Given the description of an element on the screen output the (x, y) to click on. 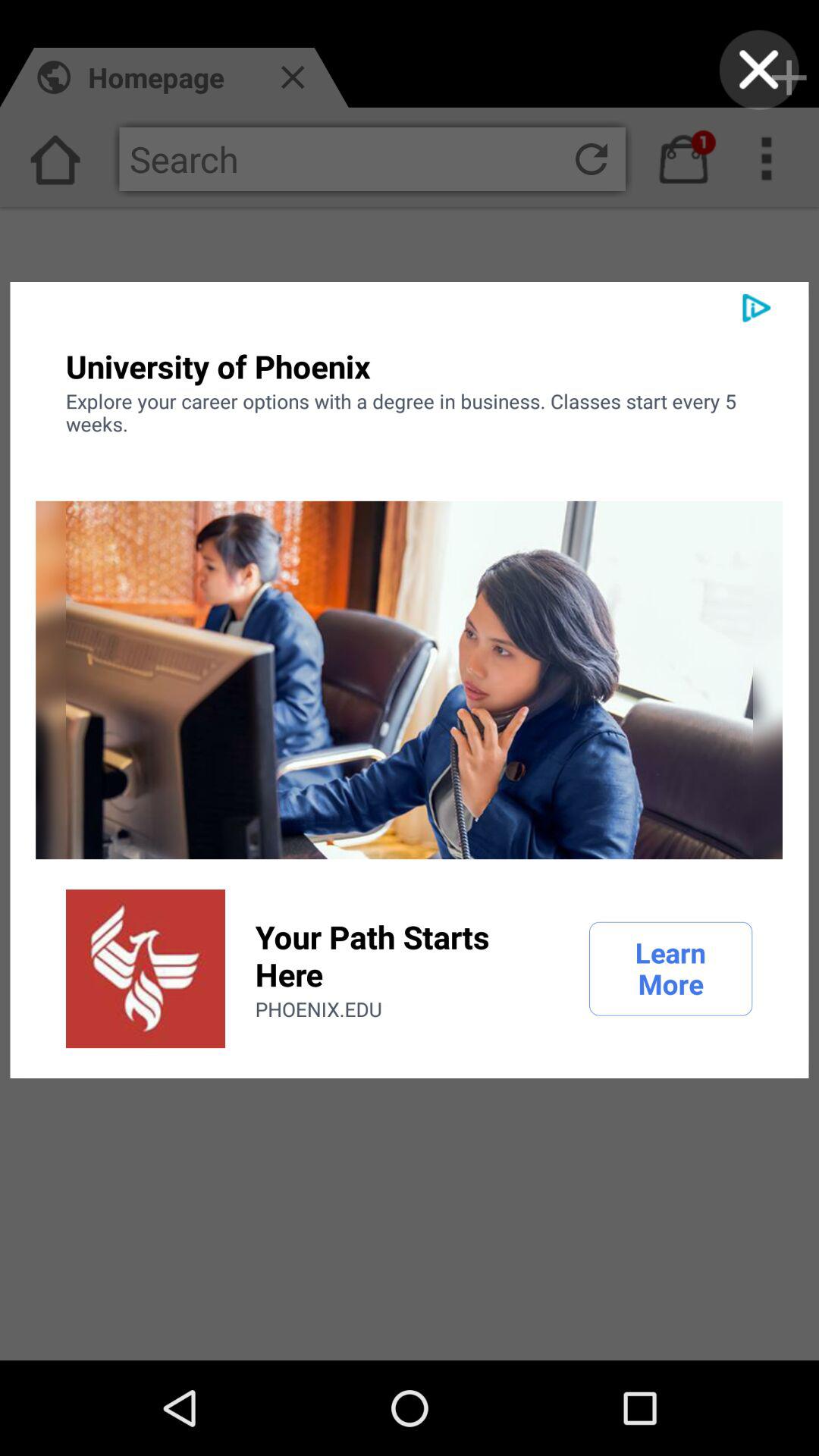
close it (759, 69)
